Given the description of an element on the screen output the (x, y) to click on. 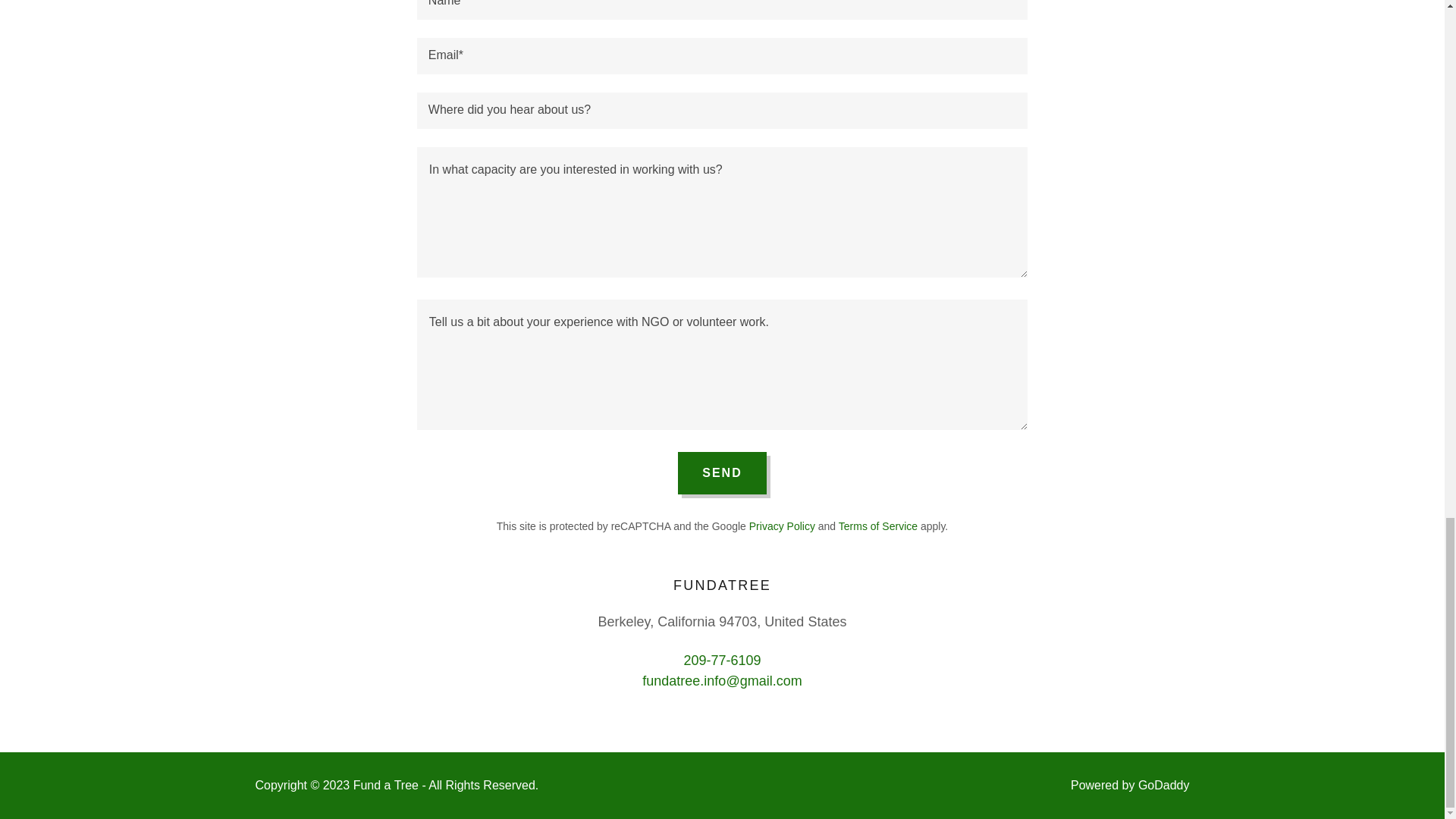
GoDaddy (1163, 784)
Privacy Policy (782, 526)
209-77-6109 (721, 660)
Terms of Service (877, 526)
SEND (721, 473)
